Given the description of an element on the screen output the (x, y) to click on. 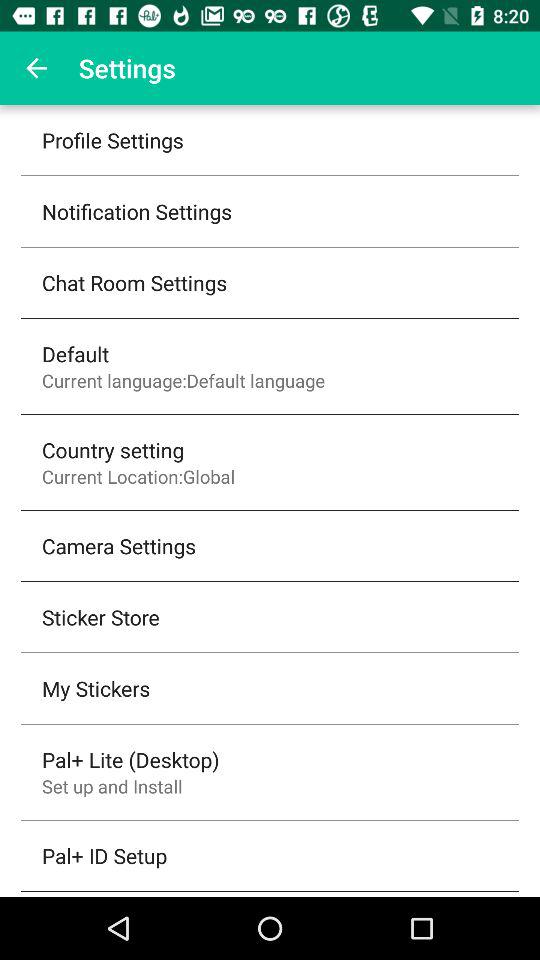
swipe until my stickers icon (96, 688)
